Given the description of an element on the screen output the (x, y) to click on. 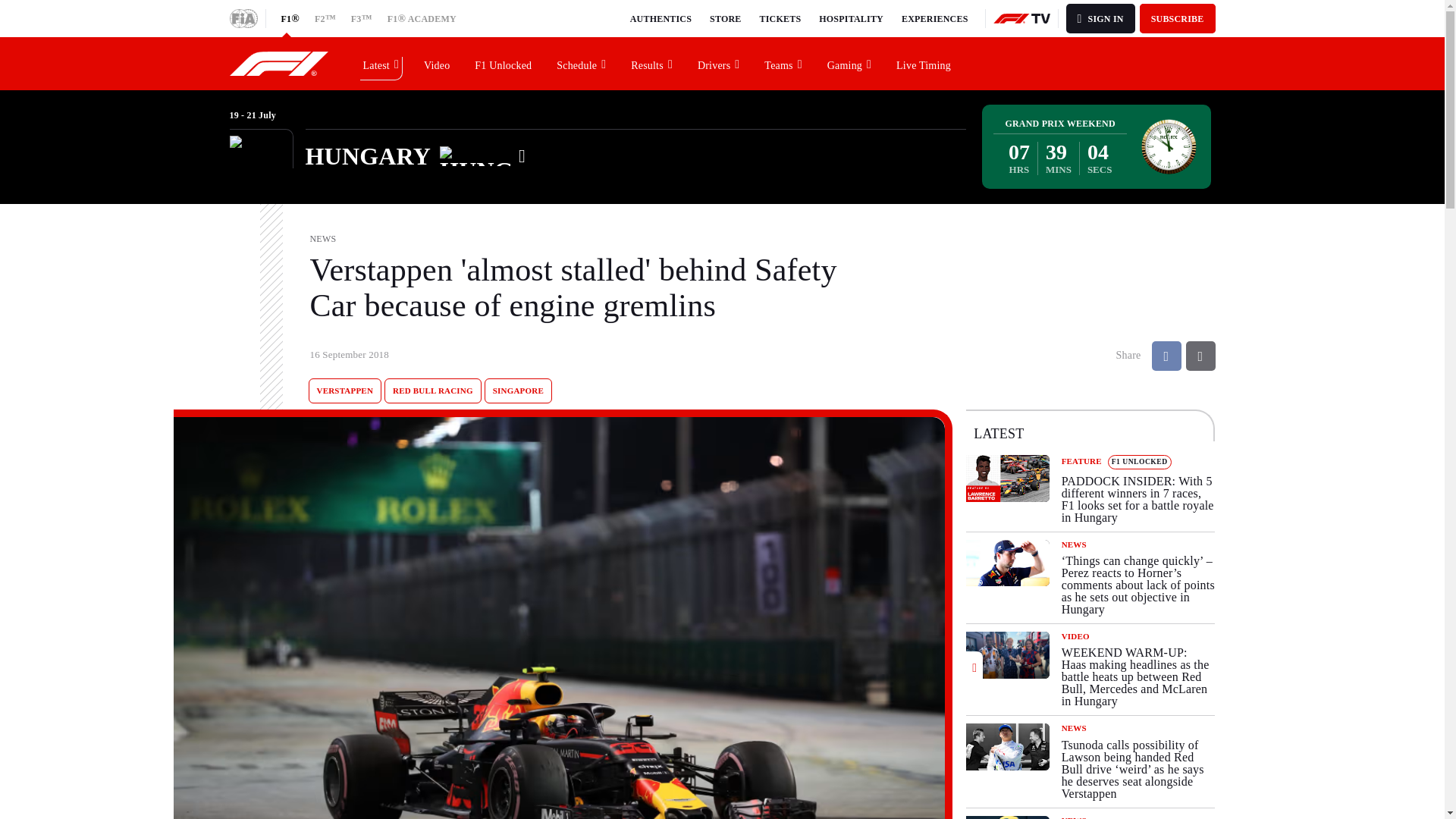
Live Timing (923, 63)
Gaming (849, 63)
TICKETS (781, 18)
Drivers (718, 63)
SIGN IN (1100, 18)
Results (651, 63)
HUNGARY (414, 156)
F1 Unlocked (503, 63)
Video (437, 63)
VERSTAPPEN (344, 390)
SUBSCRIBE (1177, 18)
AUTHENTICS (660, 18)
STORE (725, 18)
EXPERIENCES (934, 18)
